Given the description of an element on the screen output the (x, y) to click on. 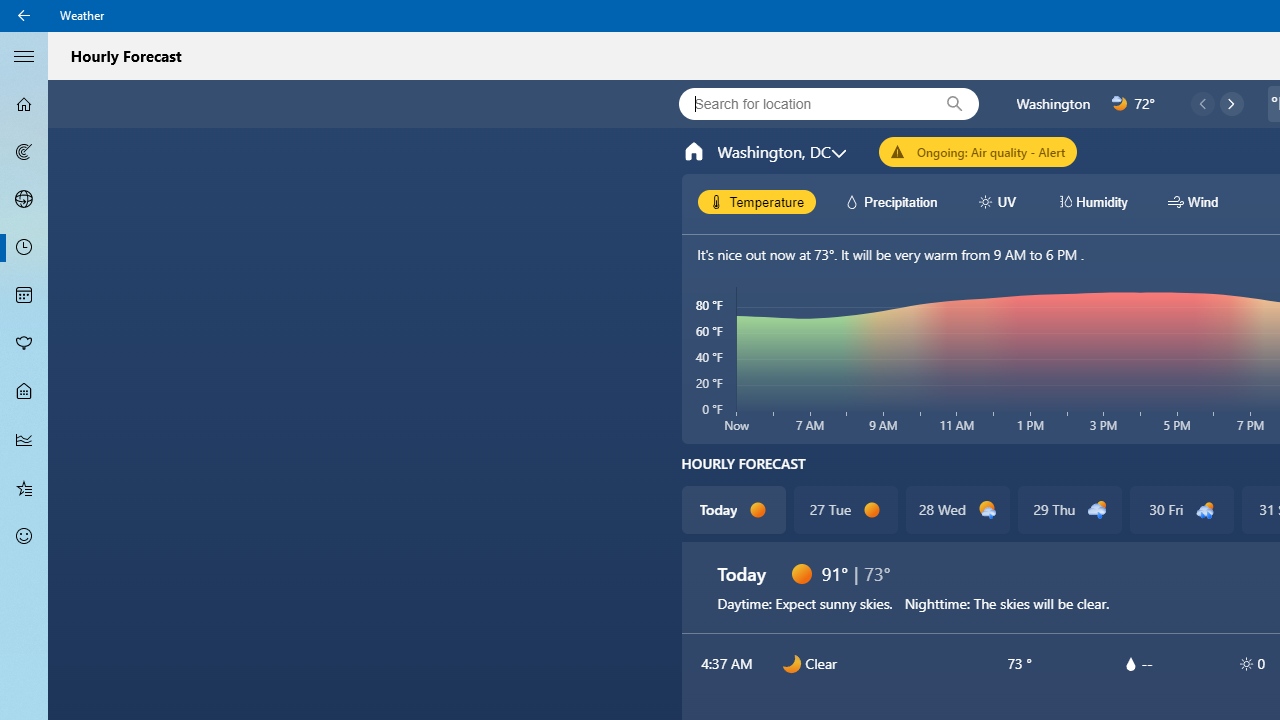
Maps - Not Selected (24, 151)
Pollen - Not Selected (24, 343)
Maps - Not Selected (24, 151)
Hourly Forecast - Not Selected (24, 247)
3D Maps - Not Selected (24, 199)
Monthly Forecast - Not Selected (24, 295)
Collapse Navigation (24, 55)
